Given the description of an element on the screen output the (x, y) to click on. 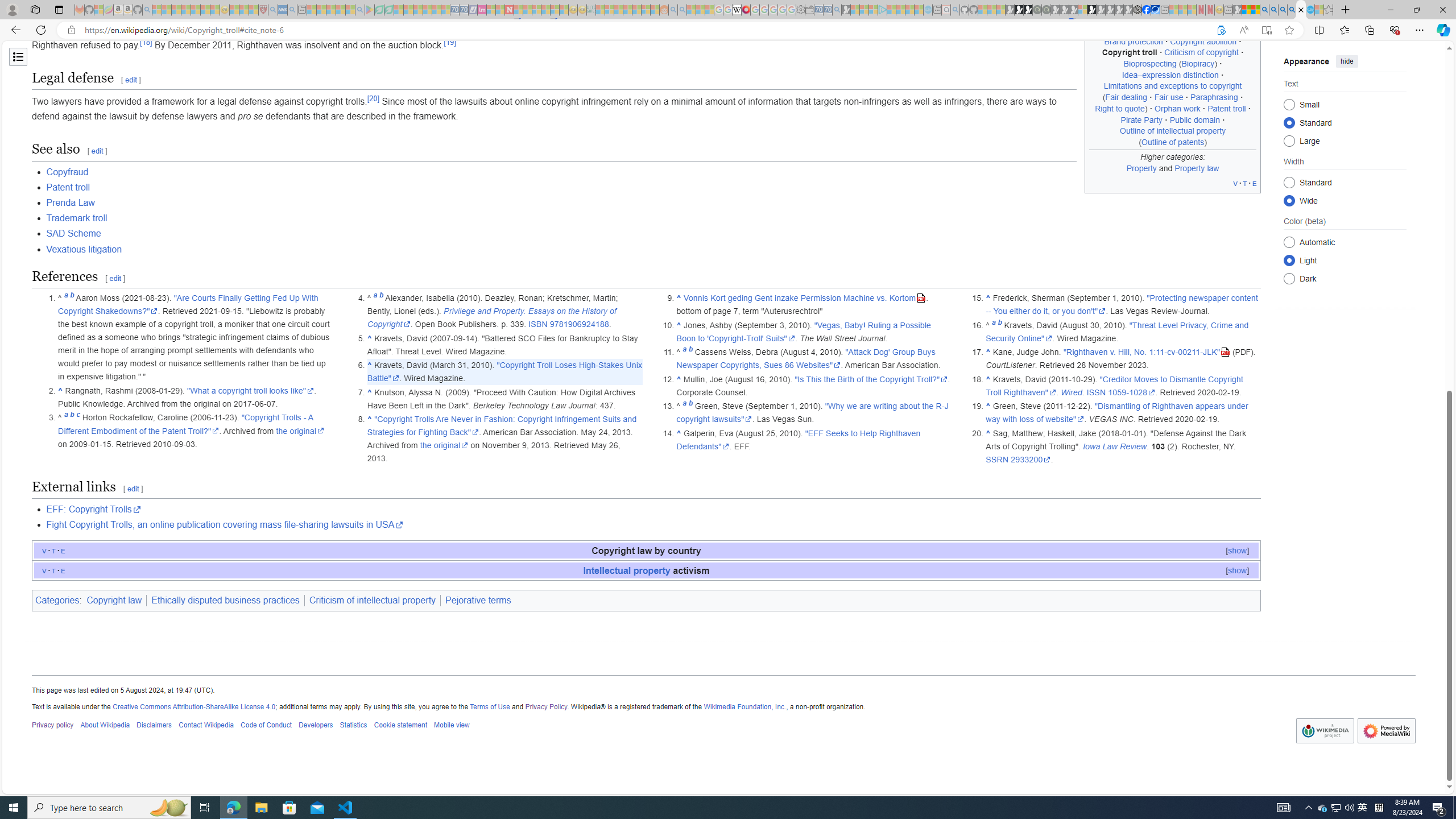
Right to quote (1119, 108)
Wikimedia Foundation (1324, 730)
Pejorative terms (477, 600)
Outline of intellectual property (1172, 130)
